Given the description of an element on the screen output the (x, y) to click on. 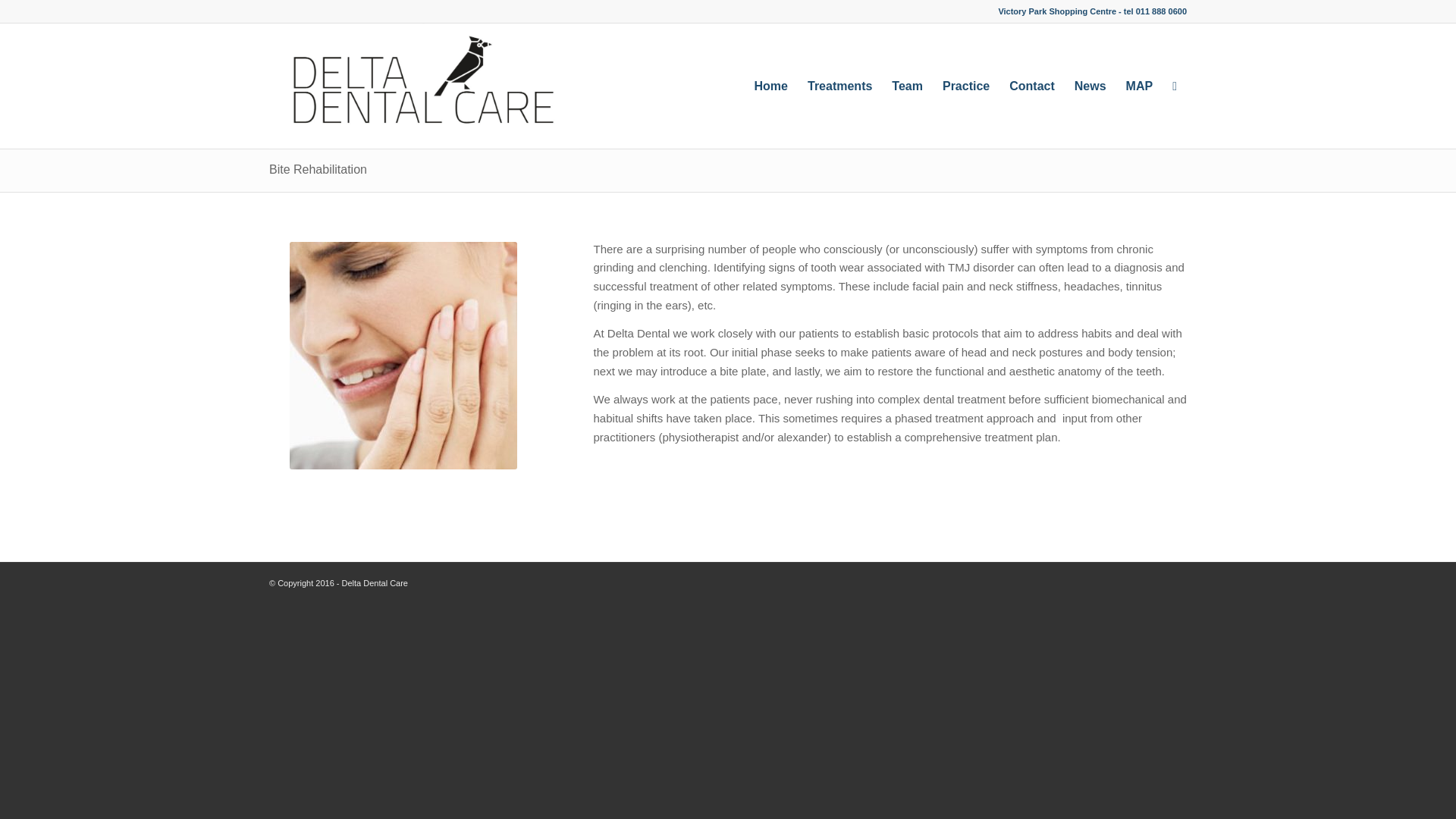
Bite Rehabilitation (317, 169)
Permanent Link: Bite Rehabilitation (317, 169)
Tooth Ache (402, 355)
